Given the description of an element on the screen output the (x, y) to click on. 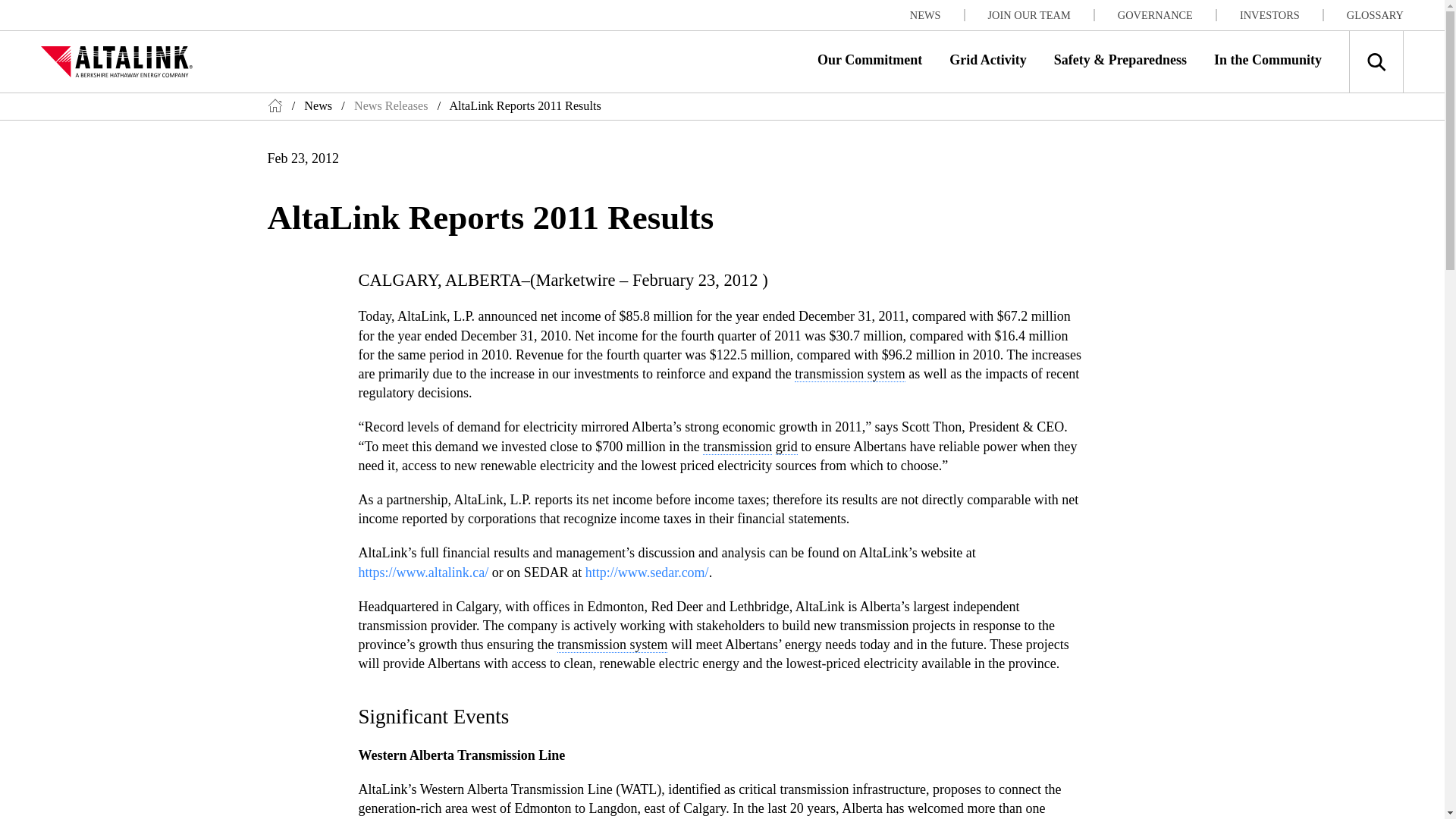
JOIN OUR TEAM (1041, 15)
GLOSSARY (1374, 15)
INVESTORS (1281, 15)
GOVERNANCE (1167, 15)
NEWS (937, 15)
News (317, 106)
